Given the description of an element on the screen output the (x, y) to click on. 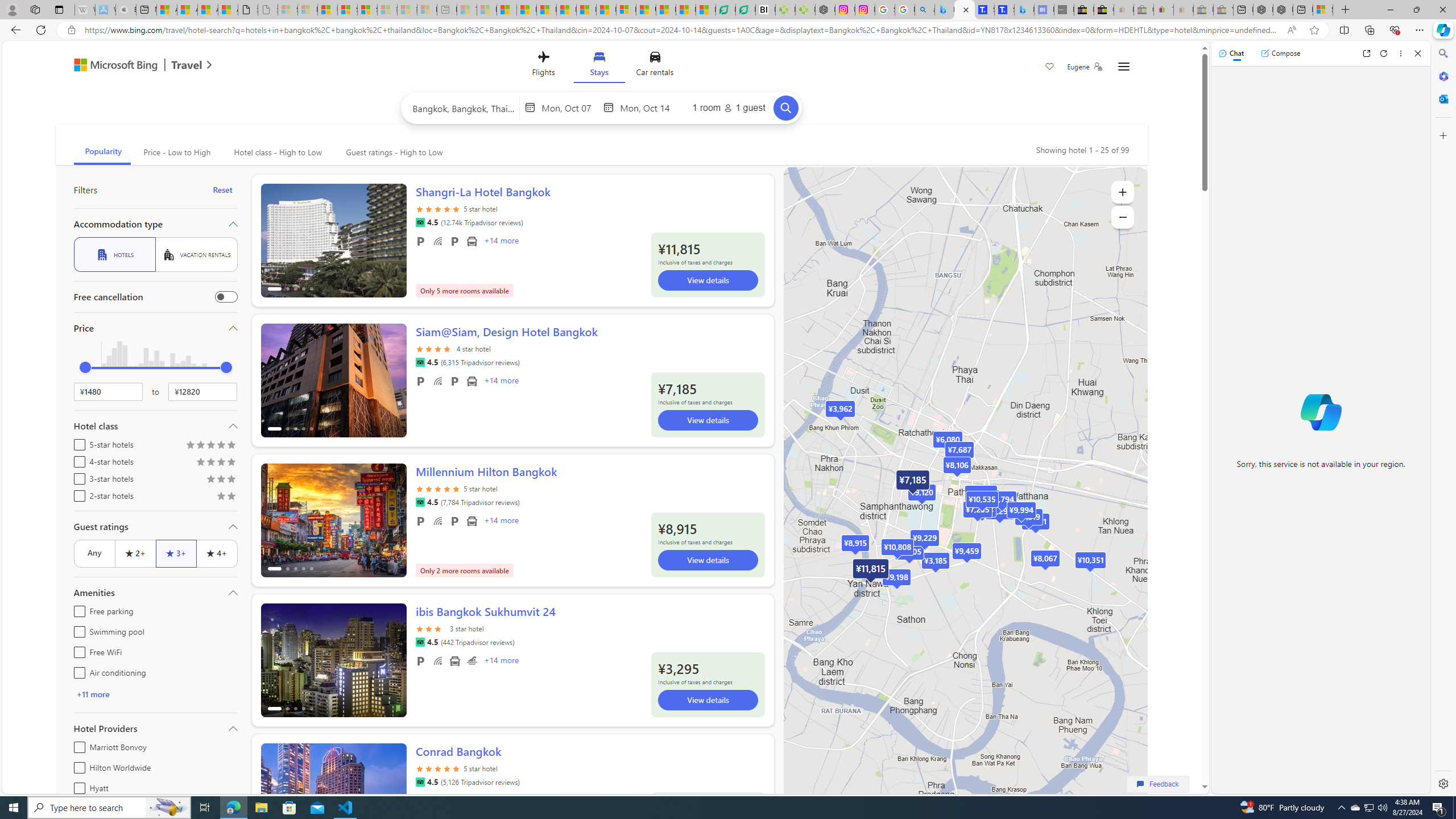
Swimming pool (76, 629)
Food and Drink - MSN (526, 9)
Price - Low to High (176, 152)
Press Room - eBay Inc. - Sleeping (1203, 9)
Nordace - Nordace Edin Collection (825, 9)
Accommodation type (154, 223)
4+ (216, 553)
Hotel class (154, 425)
